Given the description of an element on the screen output the (x, y) to click on. 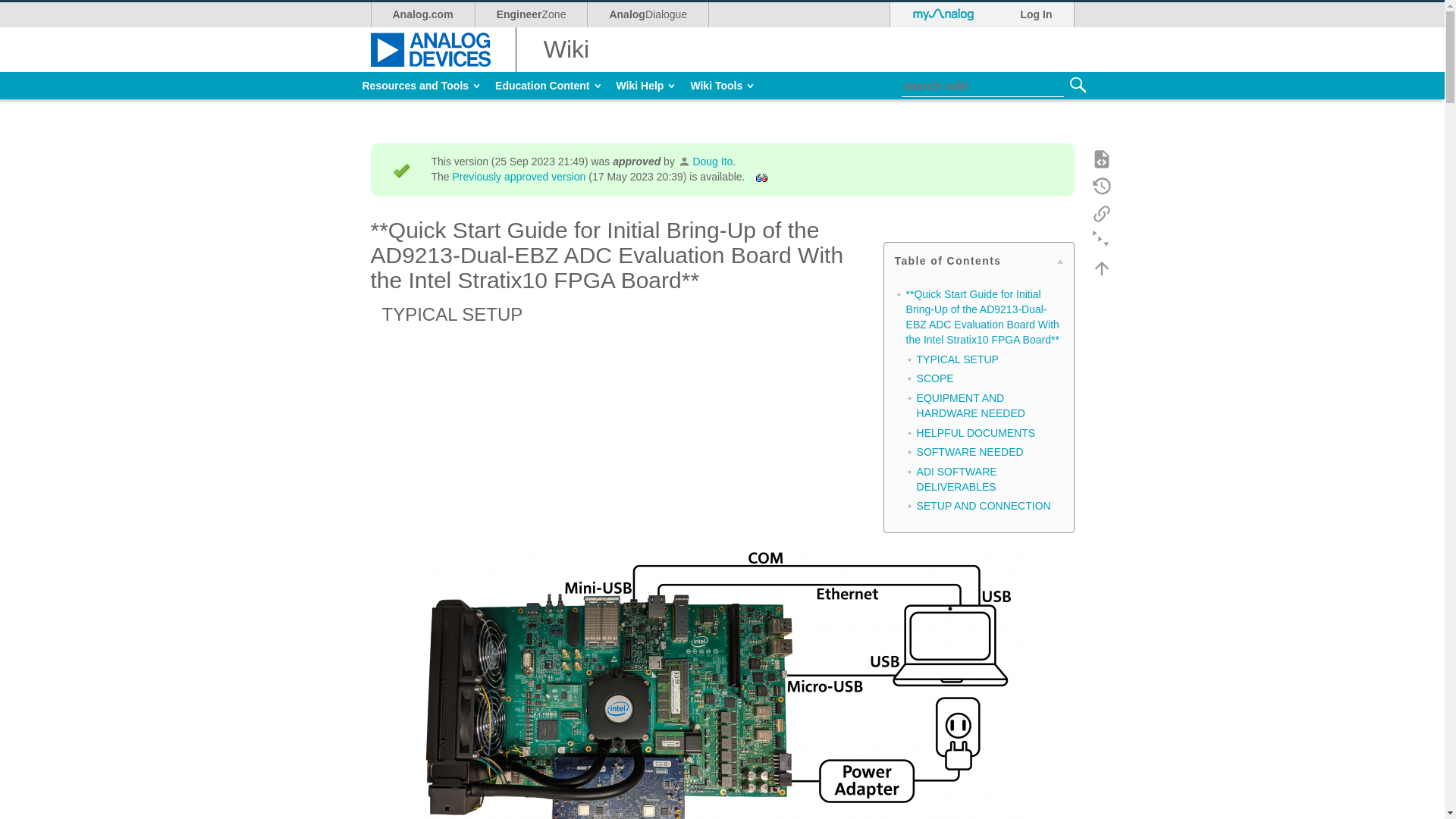
Wiki Help (531, 14)
Wiki Tools (645, 85)
Search (722, 85)
resources (1077, 85)
Analog.com (421, 85)
Resources and Tools (647, 14)
Log In (421, 14)
Education Content (421, 85)
university:courses:tutorials:index (1036, 14)
Log In (547, 85)
